Given the description of an element on the screen output the (x, y) to click on. 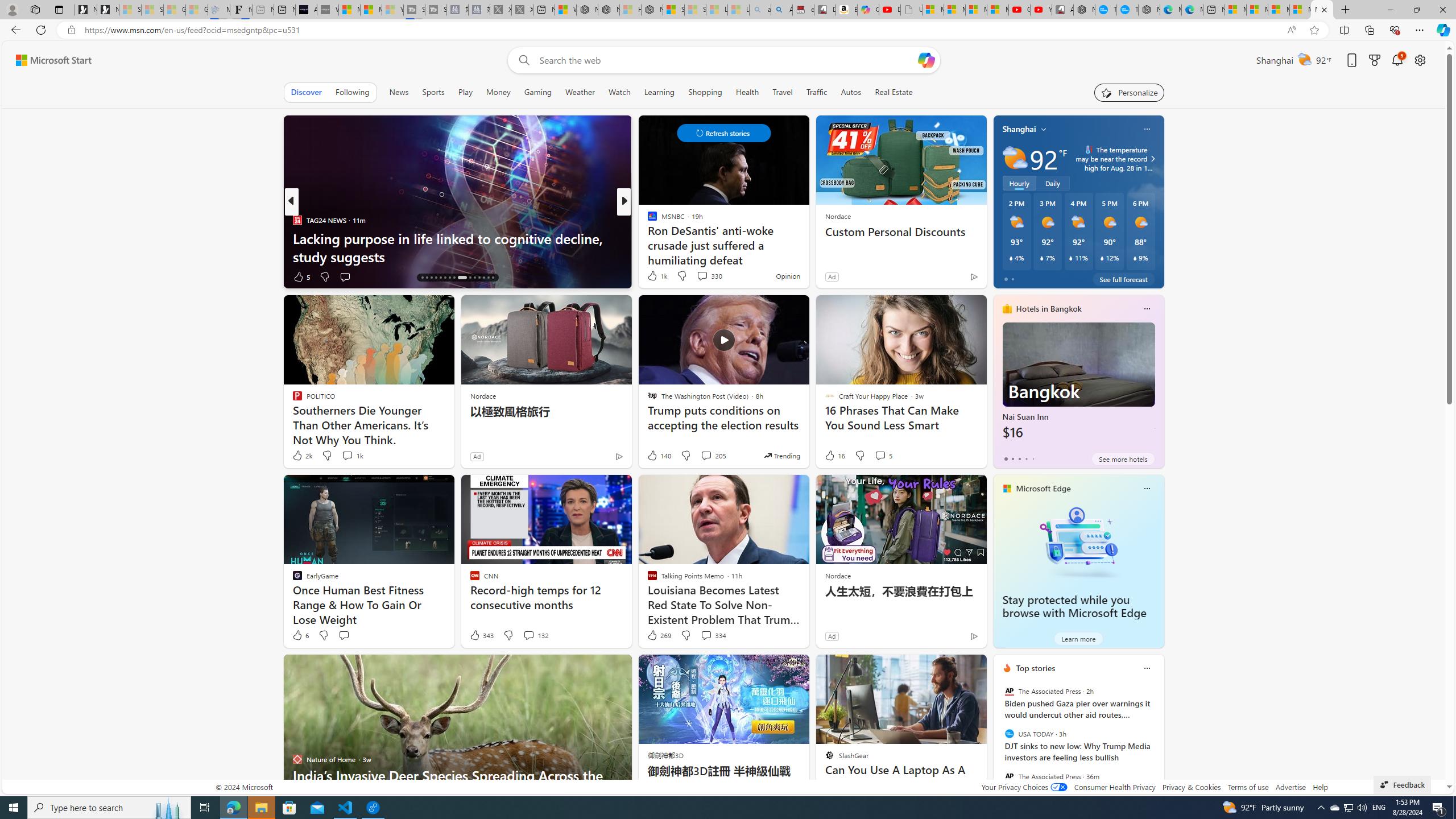
Learn more (1078, 638)
View comments 353 Comment (6, 276)
2k Like (301, 455)
18 Ways to Tank Your Respect: Behaviors That Turn People Off (807, 247)
AutomationID: tab-28 (483, 277)
Custom Personal Discounts (900, 232)
Hide this story (952, 668)
MUO (647, 219)
USA TODAY (1008, 733)
